Given the description of an element on the screen output the (x, y) to click on. 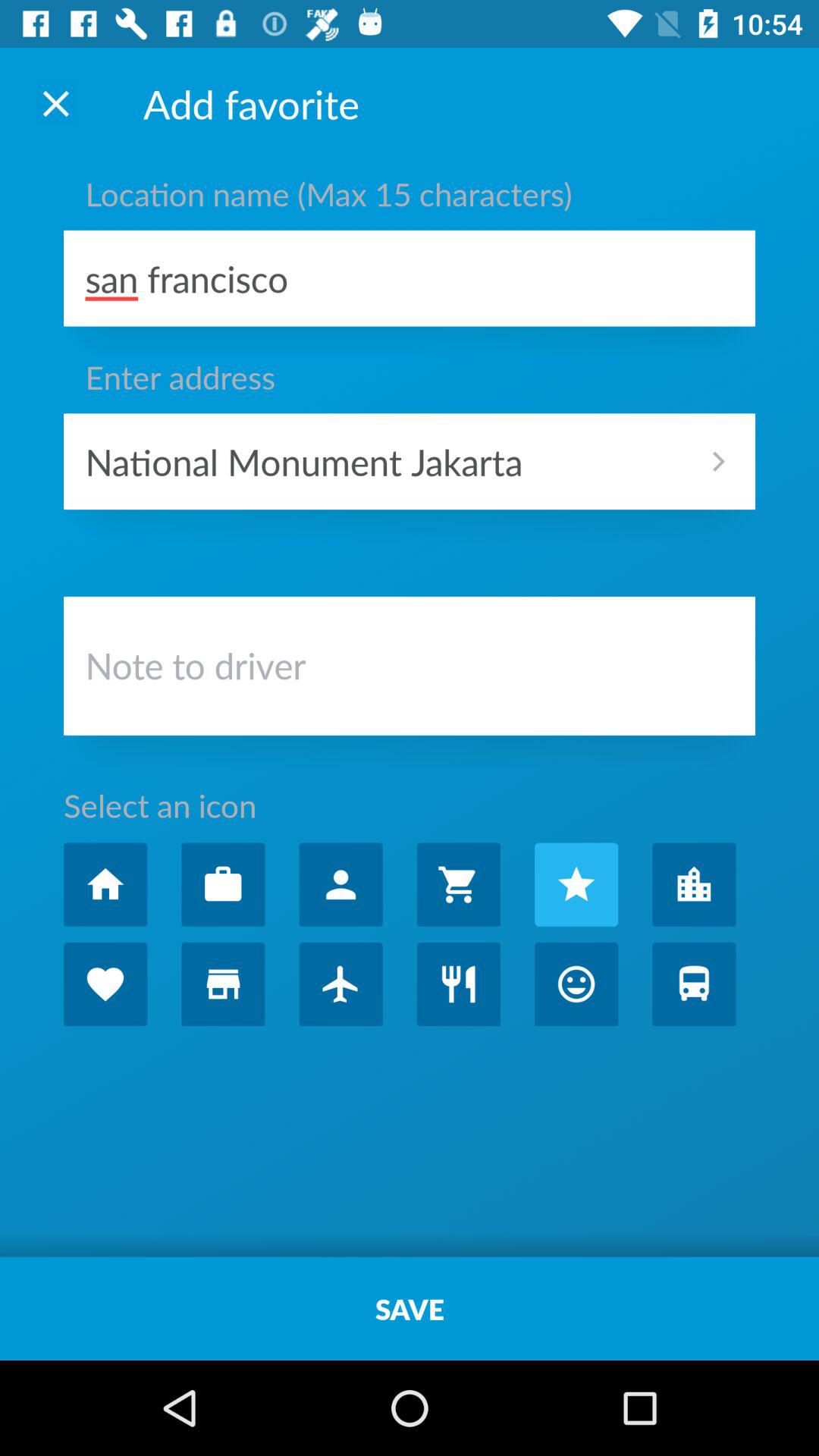
select the heart icon (105, 984)
